Given the description of an element on the screen output the (x, y) to click on. 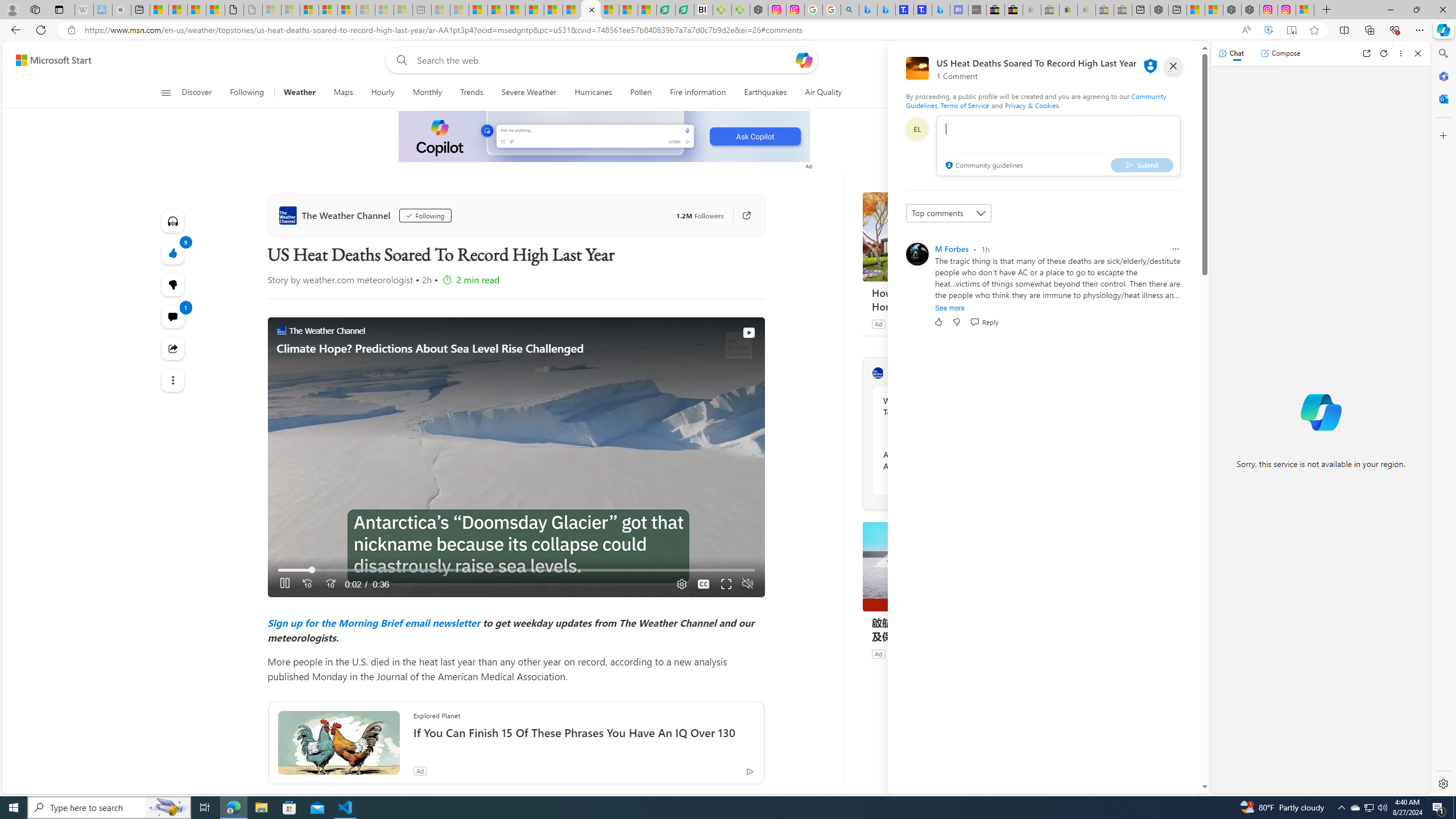
Payments Terms of Use | eBay.com - Sleeping (1086, 9)
Hurricanes (593, 92)
Severe Weather (529, 92)
The Weather Channel (336, 215)
Reply Reply Comment (984, 321)
